Given the description of an element on the screen output the (x, y) to click on. 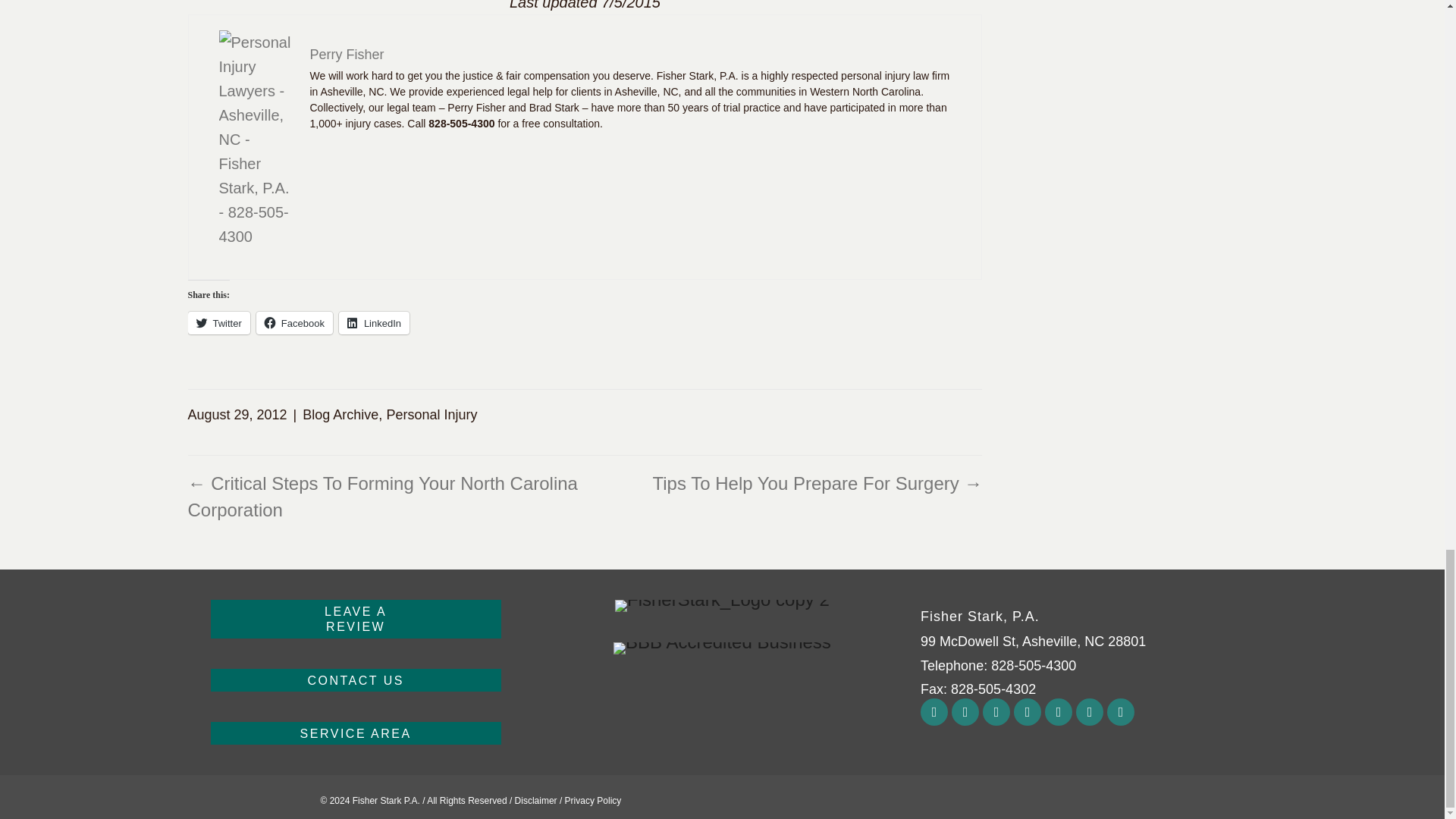
YouTube (1027, 711)
LinkedIn (374, 323)
Google Business (1120, 711)
Twitter (996, 711)
bbb-accredited (721, 648)
Personal Injury (431, 414)
Click to share on LinkedIn (374, 323)
Click to share on Twitter (355, 618)
Click to share on Facebook (218, 323)
